Given the description of an element on the screen output the (x, y) to click on. 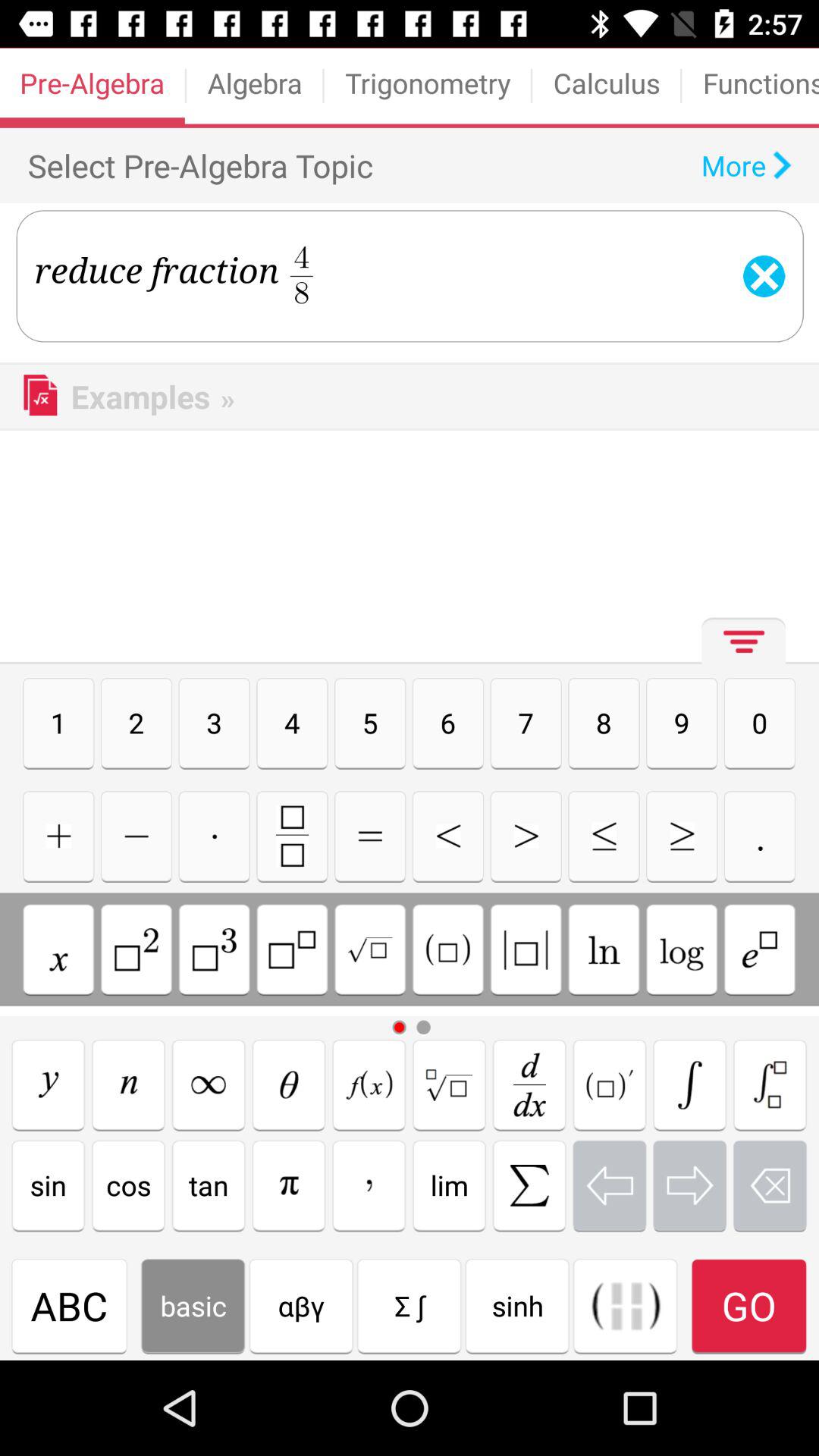
comma (369, 1185)
